Given the description of an element on the screen output the (x, y) to click on. 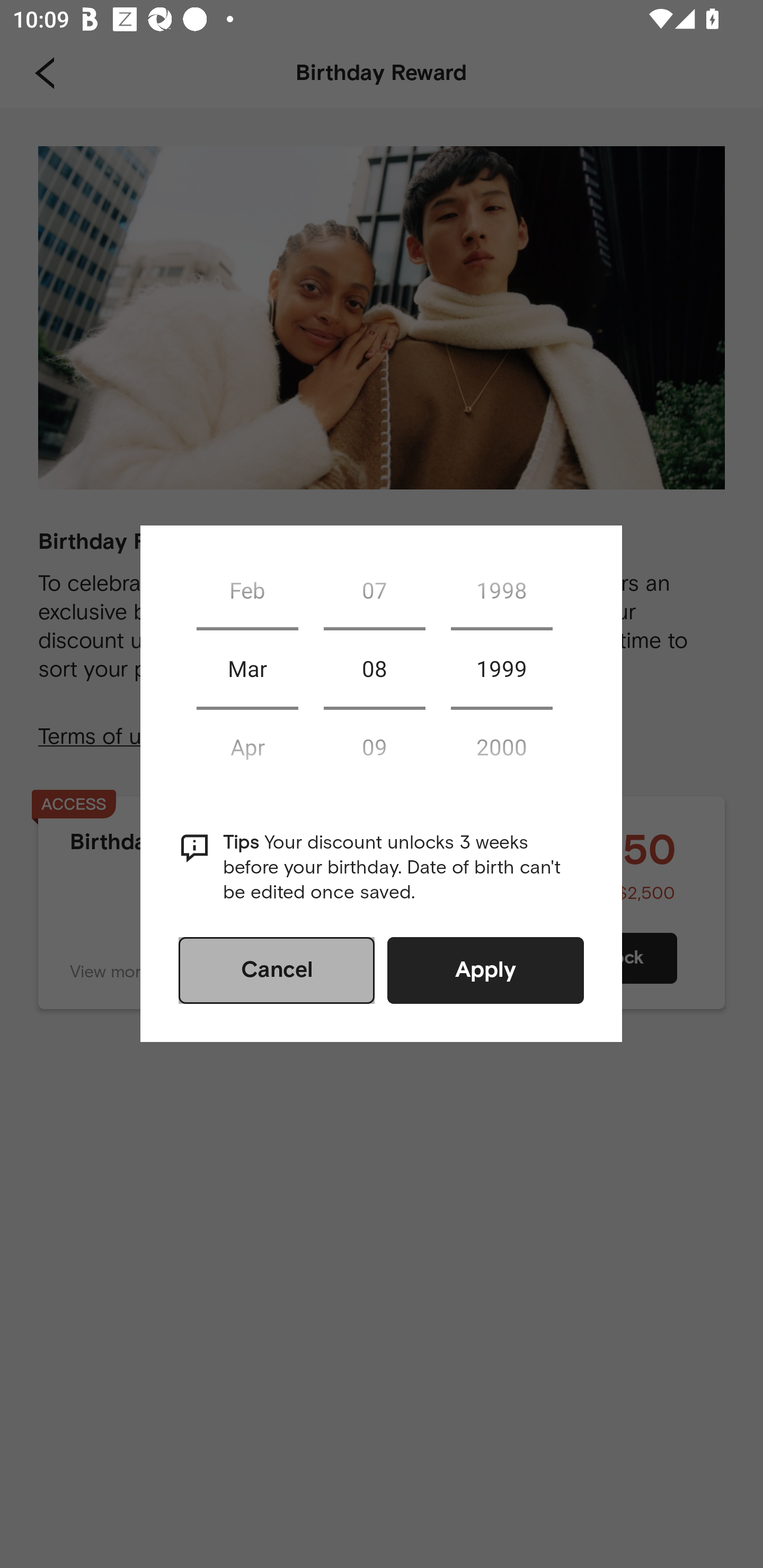
Feb (247, 590)
07 (374, 590)
1998 (501, 590)
Mar (247, 668)
08 (374, 668)
1999 (501, 668)
Apr (247, 746)
09 (374, 746)
2000 (501, 746)
Cancel (276, 970)
Apply (485, 970)
